Given the description of an element on the screen output the (x, y) to click on. 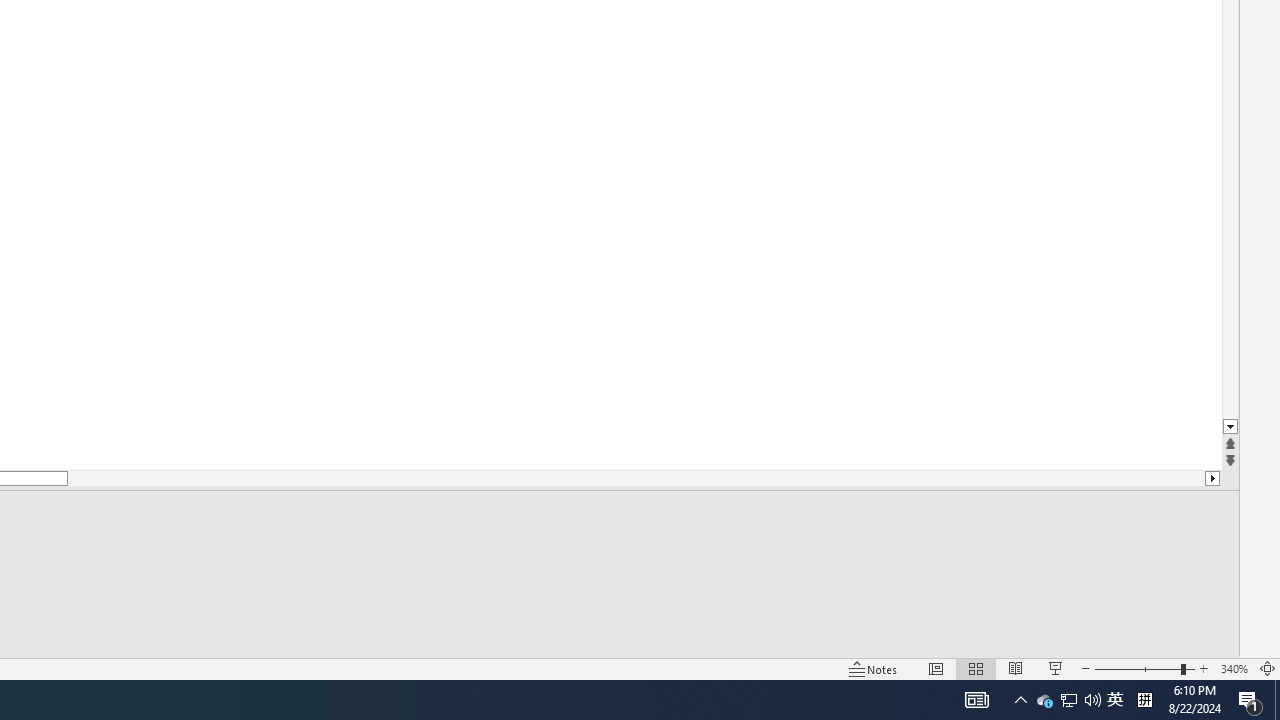
Zoom 340% (1234, 668)
